Given the description of an element on the screen output the (x, y) to click on. 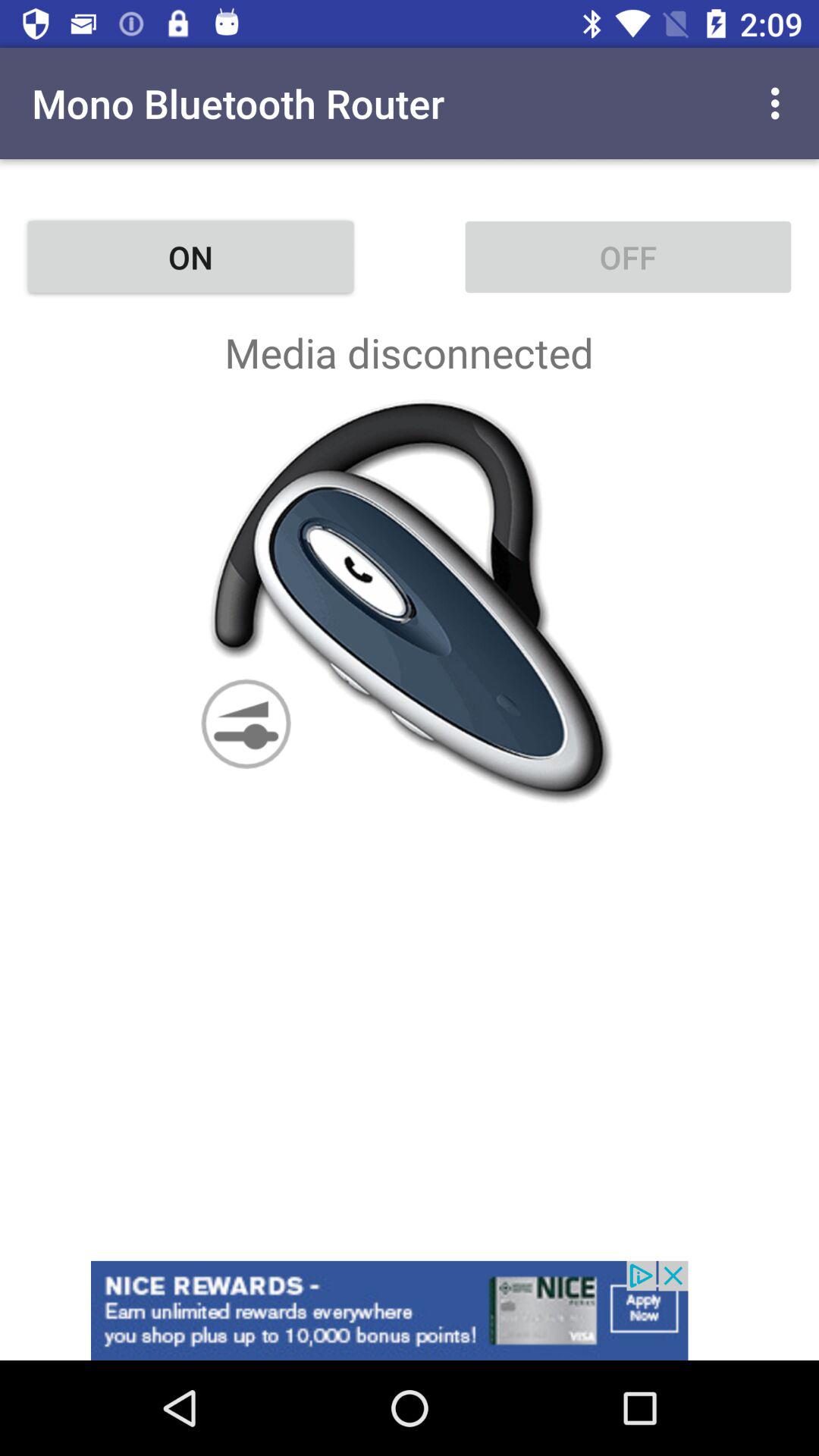
advertisement banner (409, 1310)
